Given the description of an element on the screen output the (x, y) to click on. 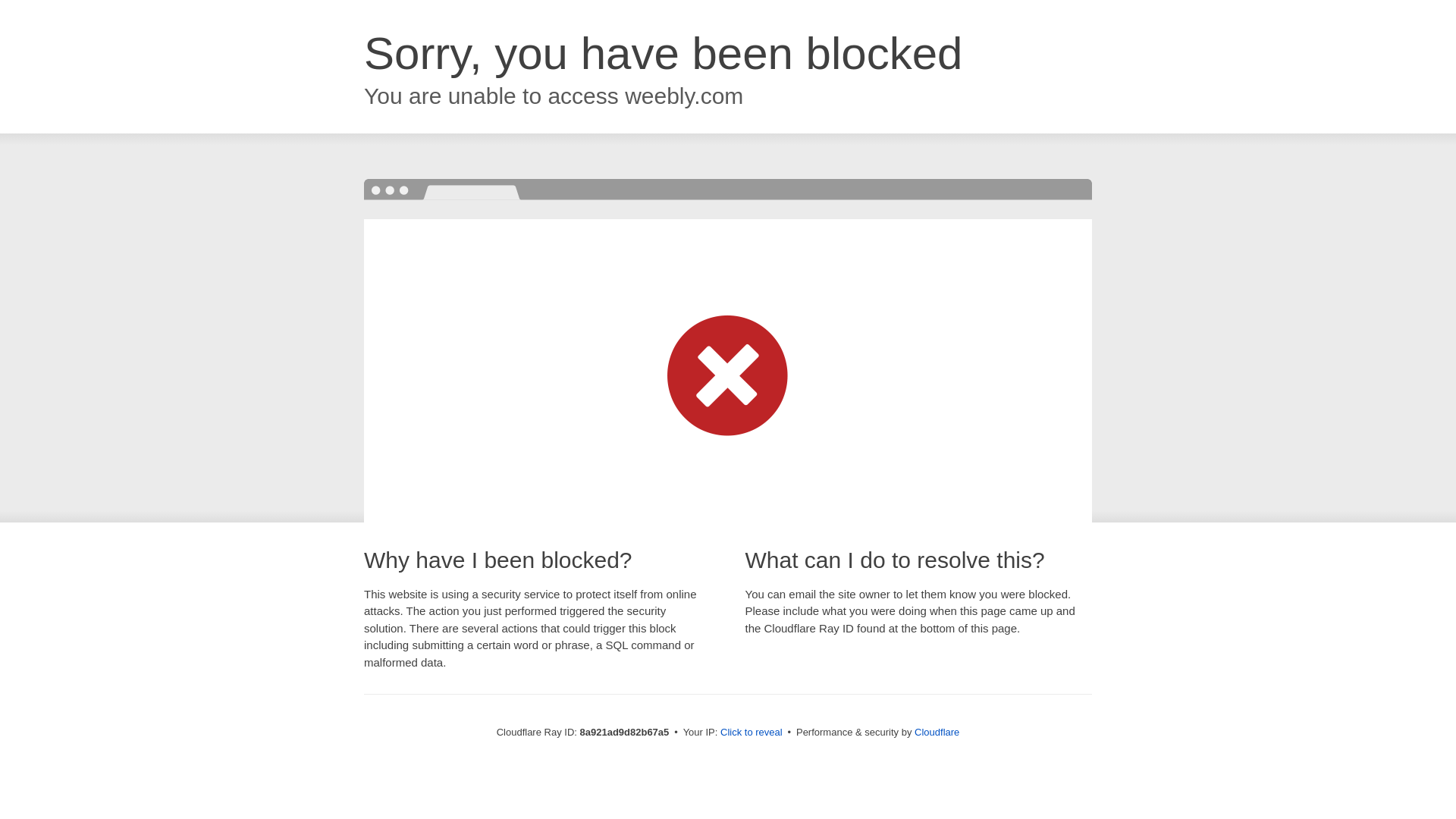
Cloudflare (936, 731)
Click to reveal (751, 732)
